Given the description of an element on the screen output the (x, y) to click on. 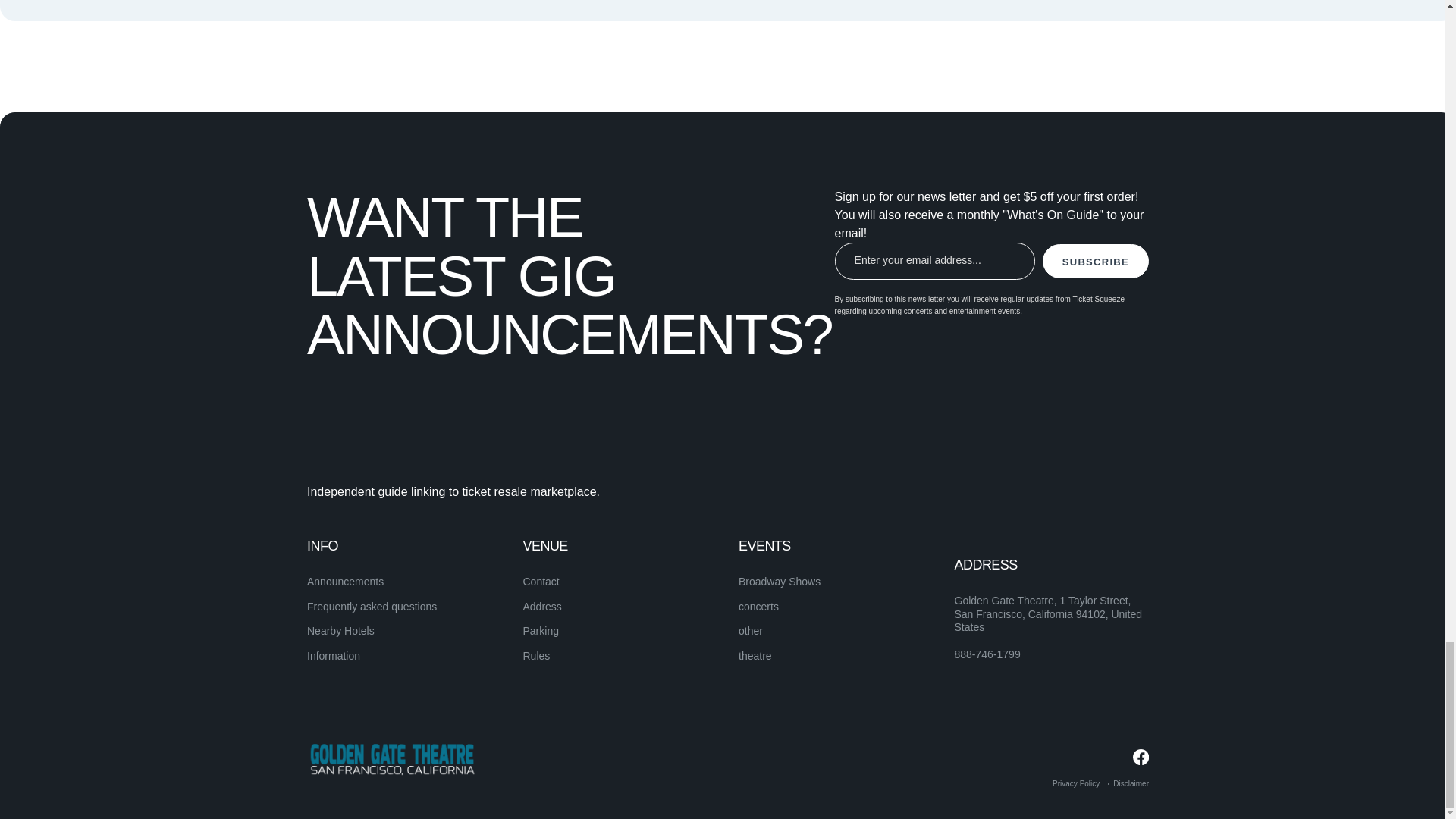
Disclaimer (1130, 783)
Rules (536, 655)
888-746-1799 (986, 654)
SUBSCRIBE (1095, 261)
Privacy Policy (1075, 783)
concerts (758, 606)
Frequently asked questions (371, 606)
Nearby Hotels (340, 630)
Parking (540, 630)
Broadway Shows (779, 581)
Announcements (345, 581)
Information (333, 655)
Contact (540, 581)
other (750, 630)
Address (542, 606)
